Given the description of an element on the screen output the (x, y) to click on. 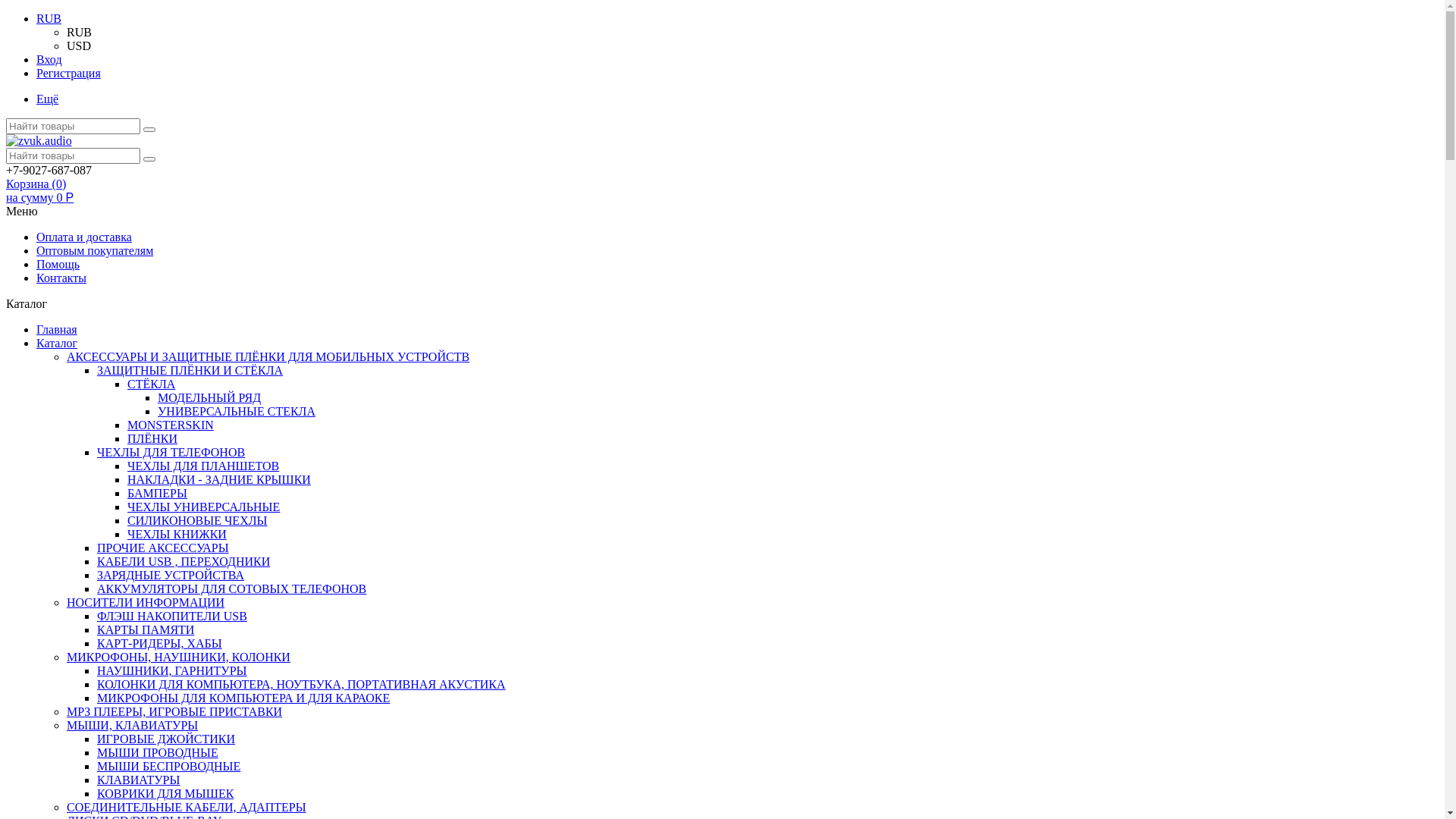
RUB Element type: text (48, 18)
USD Element type: text (78, 45)
MONSTERSKIN Element type: text (170, 424)
RUB Element type: text (78, 31)
